Given the description of an element on the screen output the (x, y) to click on. 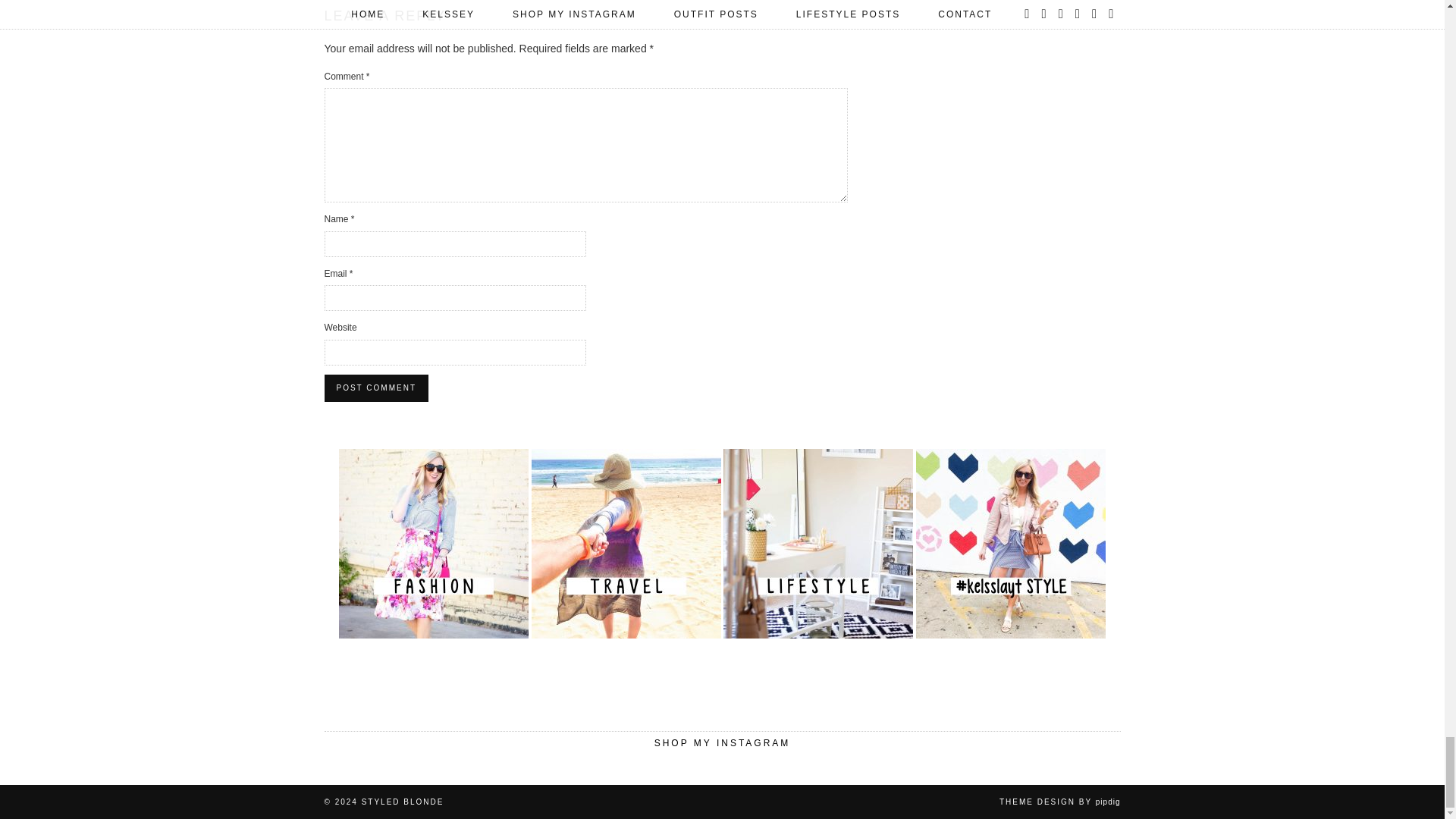
Post Comment (376, 388)
